Given the description of an element on the screen output the (x, y) to click on. 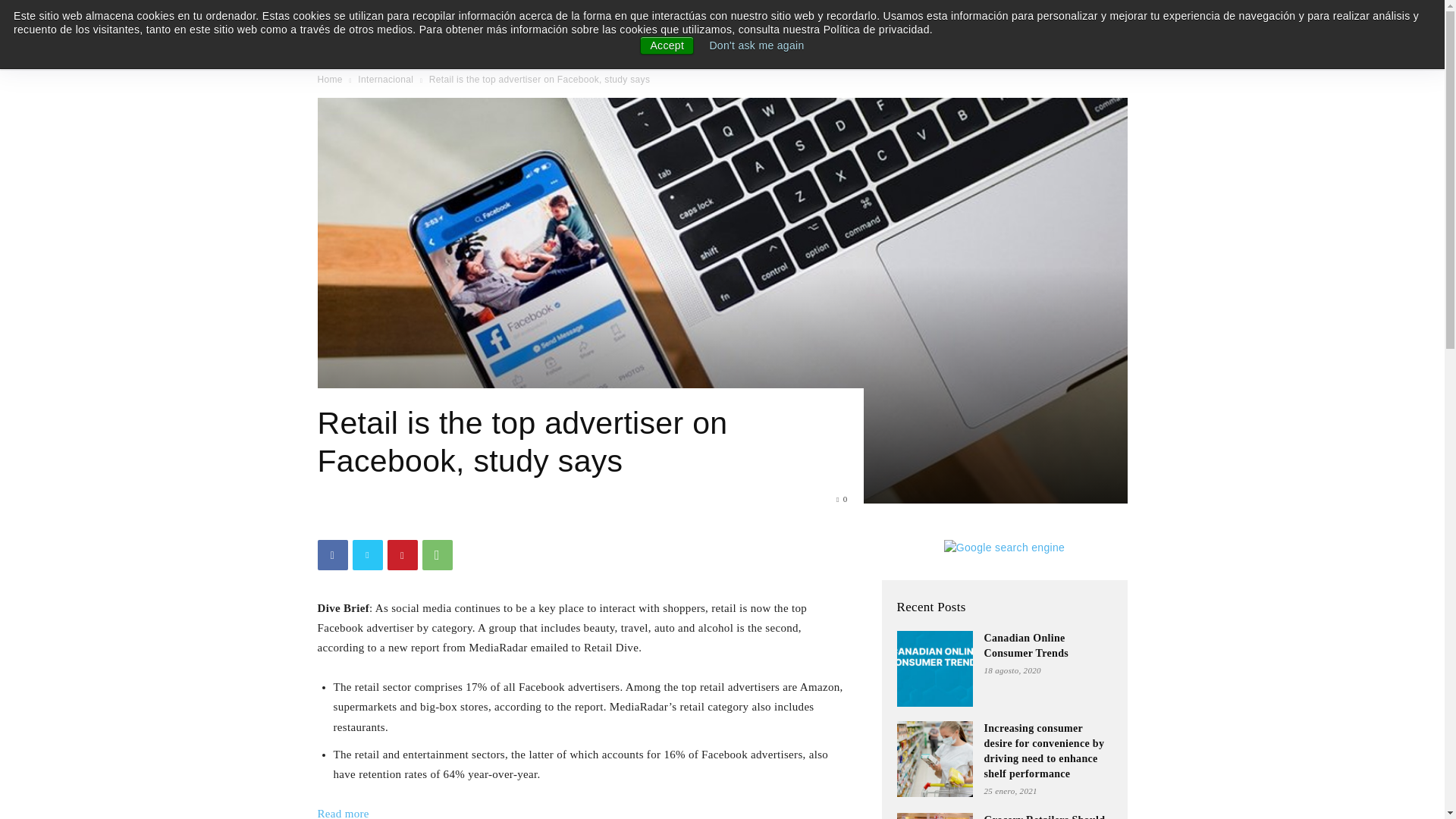
CONTACT US (1210, 30)
Don't ask me again (756, 45)
0 (841, 498)
Accept (667, 45)
Home (329, 79)
ABOUT US (1132, 30)
Twitter (366, 554)
Facebook (332, 554)
Read more (342, 813)
WhatsApp (436, 554)
Pinterest (401, 554)
View all posts in Internacional (385, 79)
Internacional (385, 79)
